Given the description of an element on the screen output the (x, y) to click on. 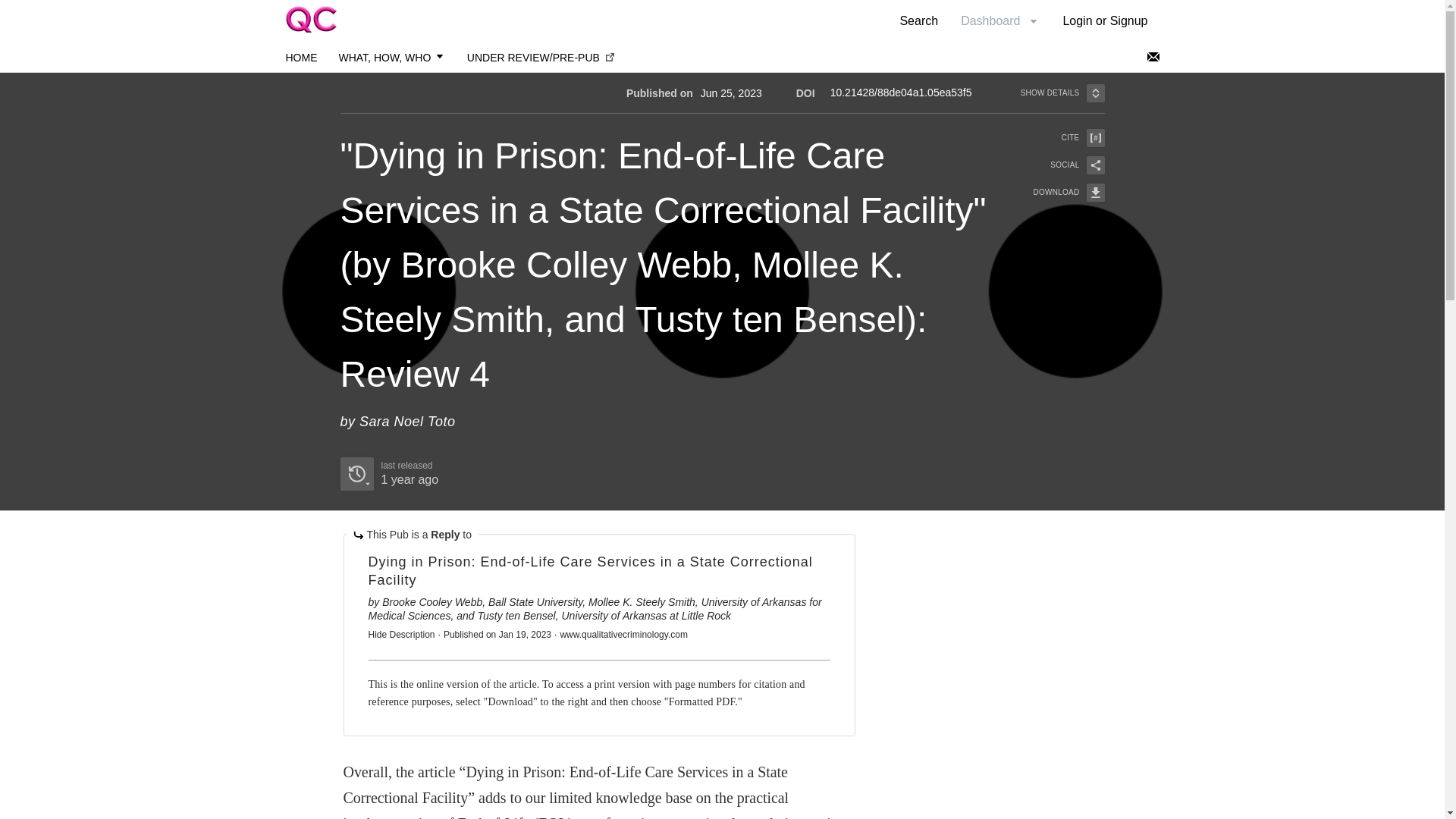
Login or Signup (1104, 20)
SOCIAL (1058, 165)
HOME (301, 57)
Dashboard (388, 473)
DOWNLOAD (1000, 20)
SHOW DETAILS (1058, 192)
Search (1062, 93)
2023-06-25 14:37 (918, 20)
